Given the description of an element on the screen output the (x, y) to click on. 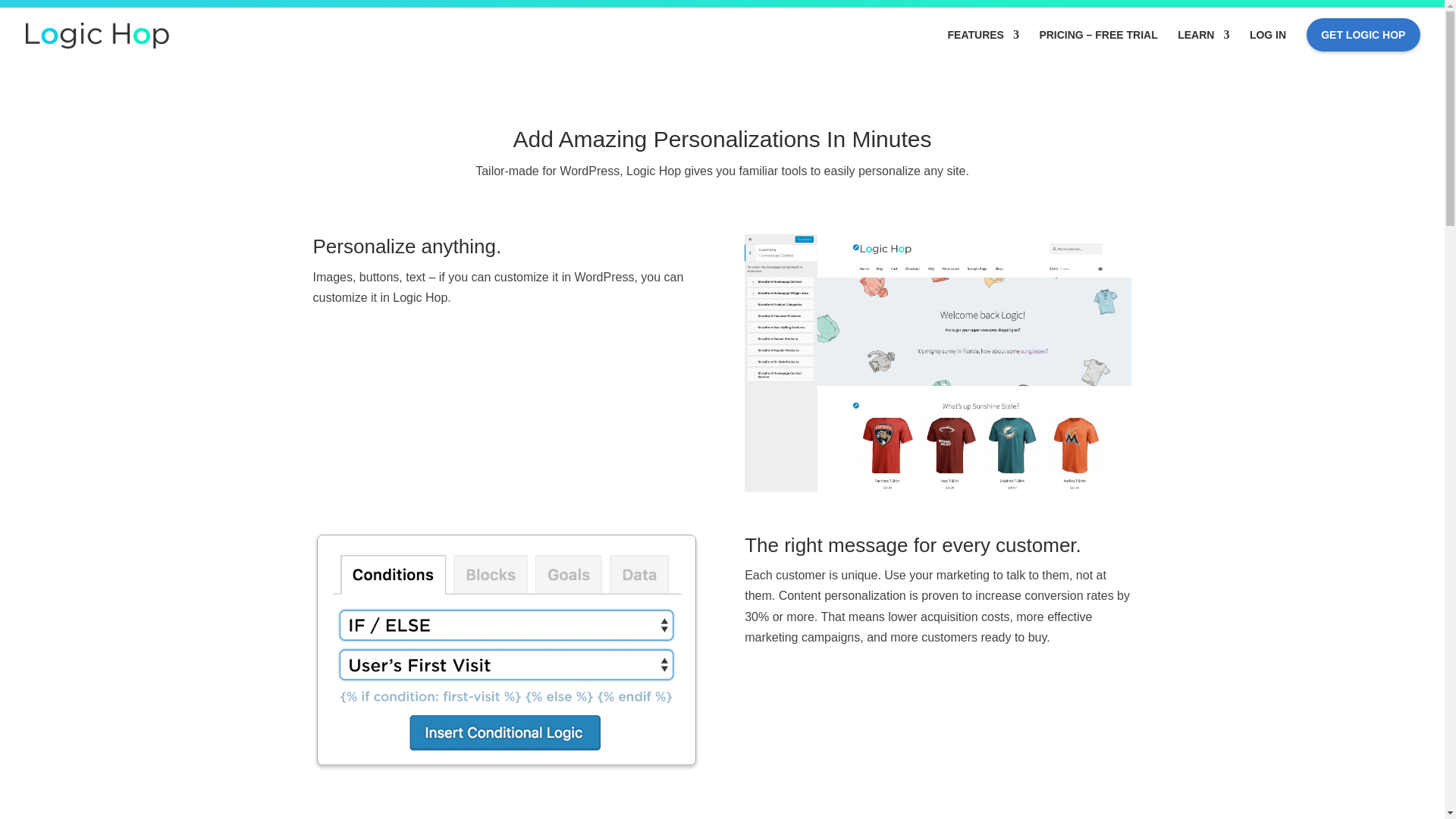
GET LOGIC HOP (1363, 44)
LEARN (1202, 43)
Logic Tags (505, 652)
LOG IN (1267, 43)
FEATURES (983, 43)
